Given the description of an element on the screen output the (x, y) to click on. 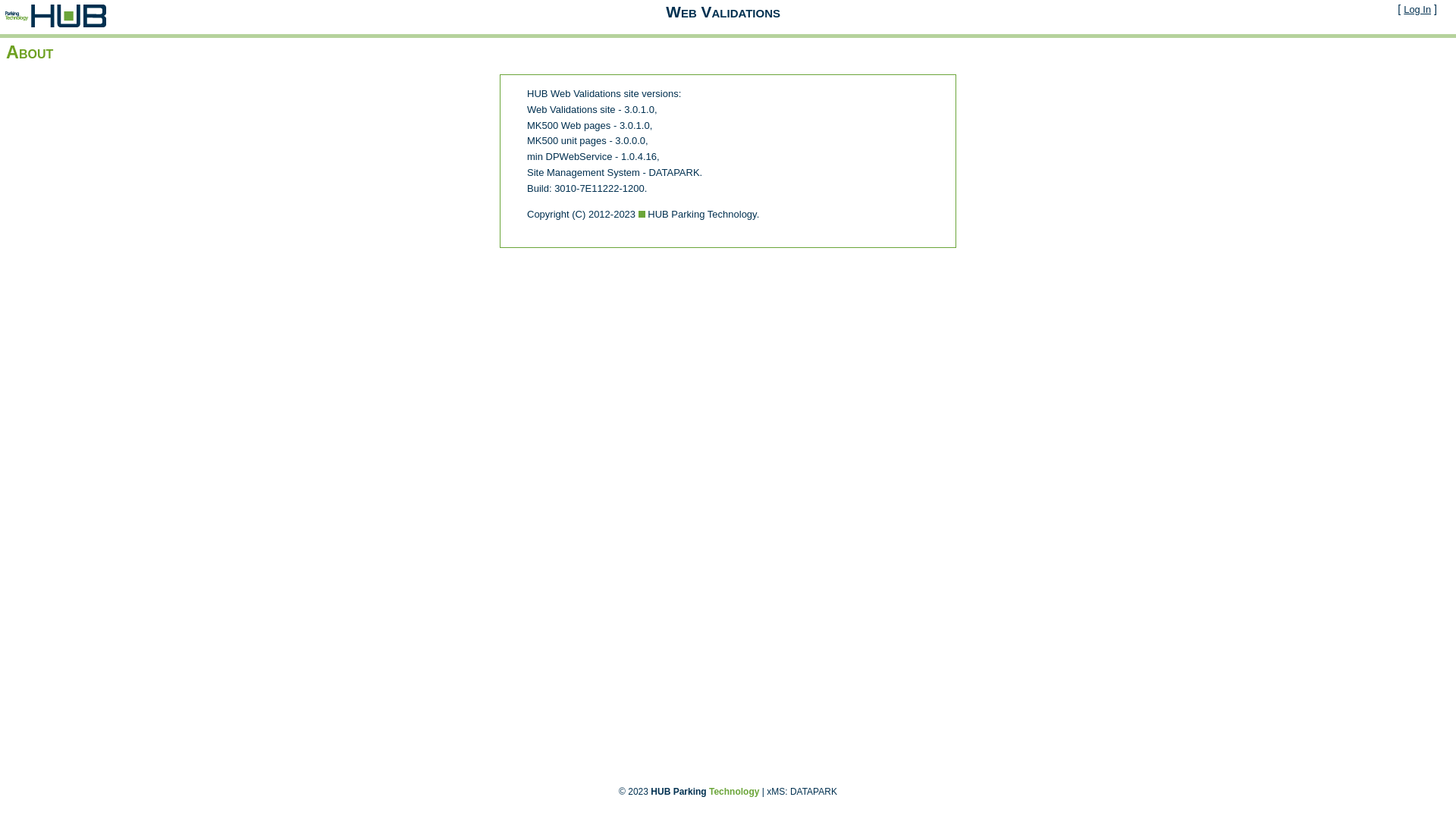
Log In Element type: text (1416, 9)
HUB Parking Technology Element type: hover (55, 15)
HUB Parking Technology Element type: text (704, 791)
